Given the description of an element on the screen output the (x, y) to click on. 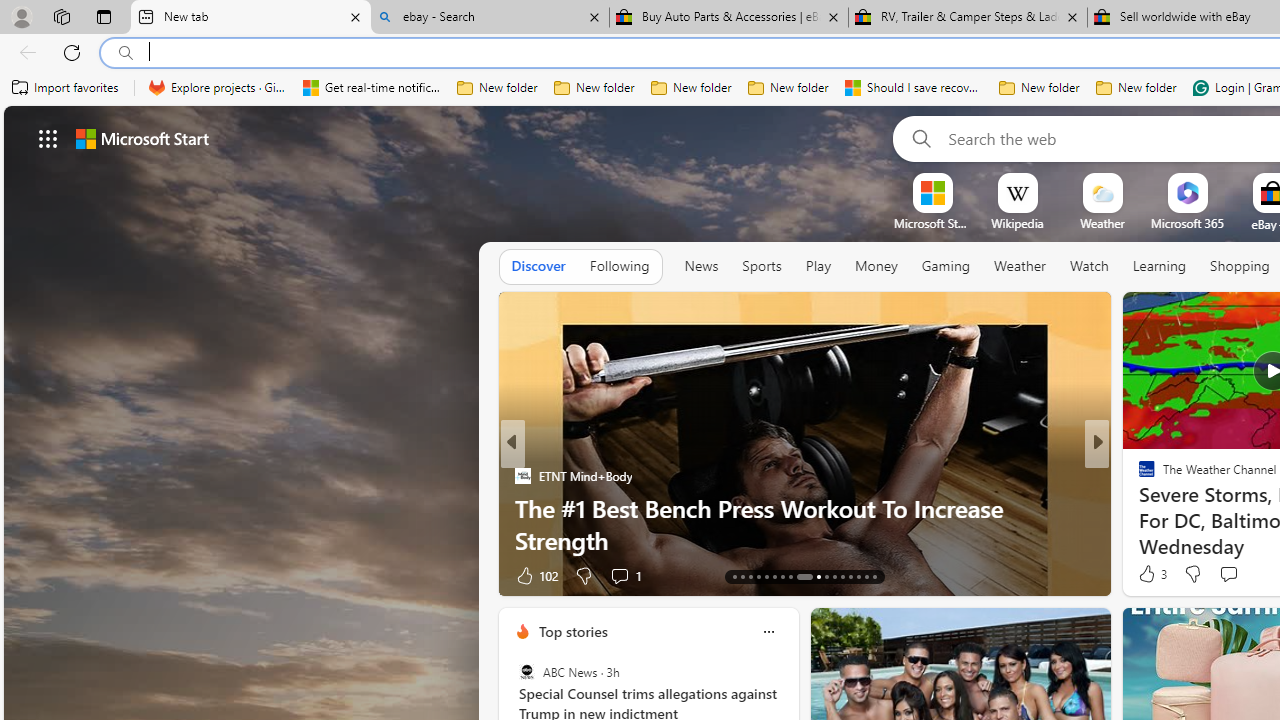
Should I save recovered Word documents? - Microsoft Support (913, 88)
AutomationID: tab-26 (850, 576)
99 Like (1149, 574)
32 Like (1149, 574)
View comments 96 Comment (11, 575)
App launcher (47, 138)
